Given the description of an element on the screen output the (x, y) to click on. 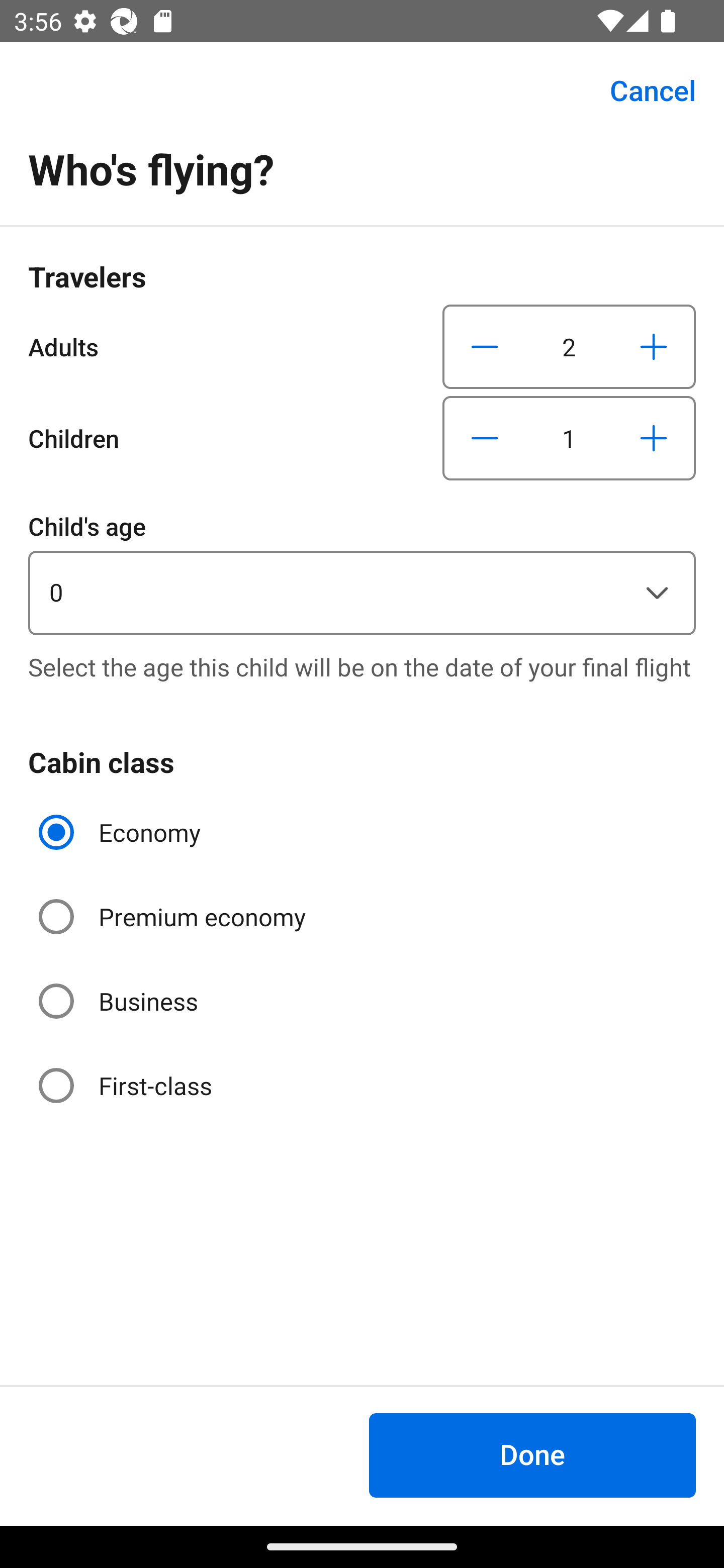
Cancel (641, 90)
Decrease (484, 346)
Increase (653, 346)
Decrease (484, 437)
Increase (653, 437)
Child's age
 Child's age 0 (361, 571)
Economy (121, 832)
Premium economy (174, 916)
Business (120, 1000)
First-class (126, 1084)
Done (532, 1454)
